Given the description of an element on the screen output the (x, y) to click on. 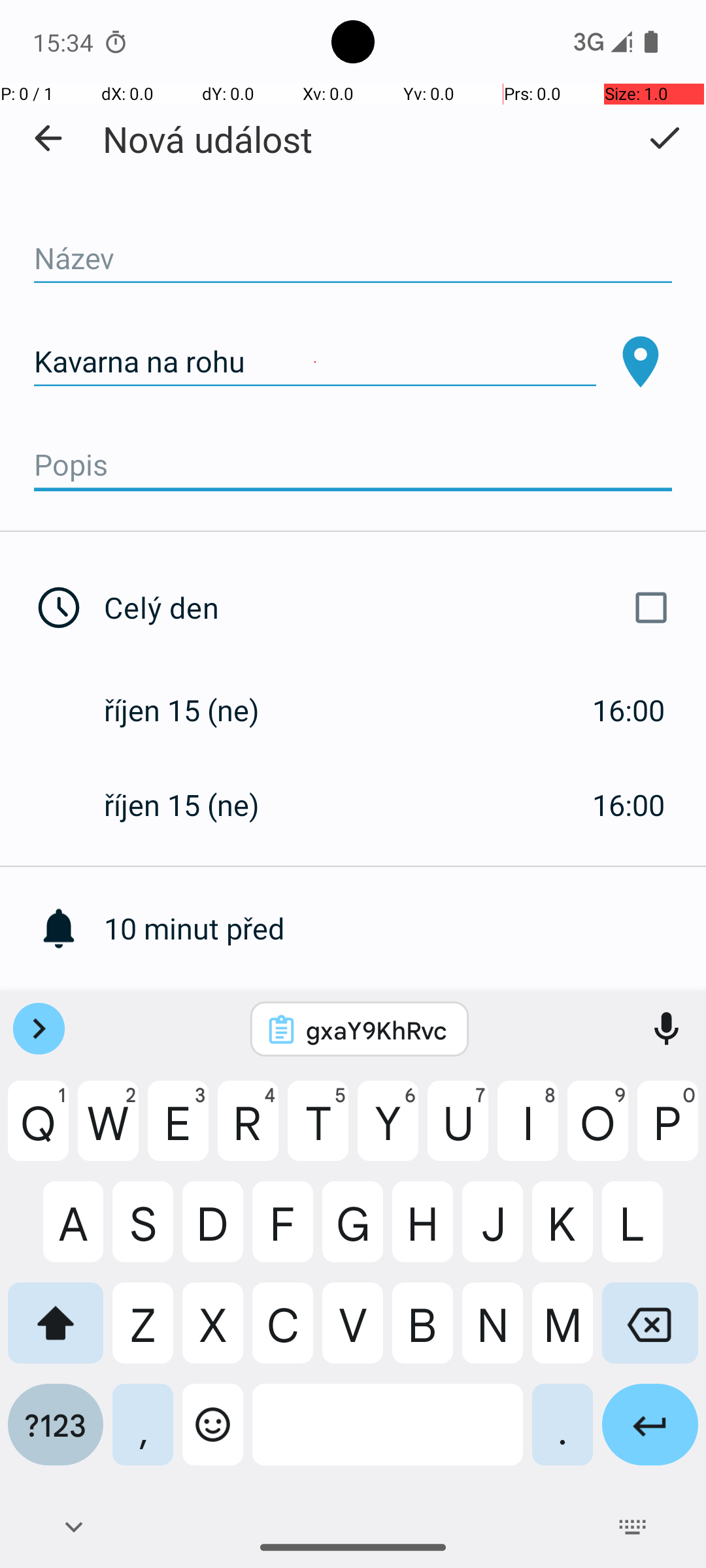
Uložit Element type: android.widget.Button (664, 137)
Název Element type: android.widget.EditText (352, 258)
Kavarna na rohu Element type: android.widget.EditText (314, 361)
Popis Element type: android.widget.EditText (352, 465)
říjen 15 (ne) Element type: android.widget.TextView (194, 709)
10 minut před Element type: android.widget.TextView (404, 927)
Přidat další připomínku Element type: android.widget.TextView (404, 1022)
Celý den Element type: android.widget.CheckBox (390, 607)
gxaY9KhRvc Element type: android.widget.TextView (376, 1029)
